Given the description of an element on the screen output the (x, y) to click on. 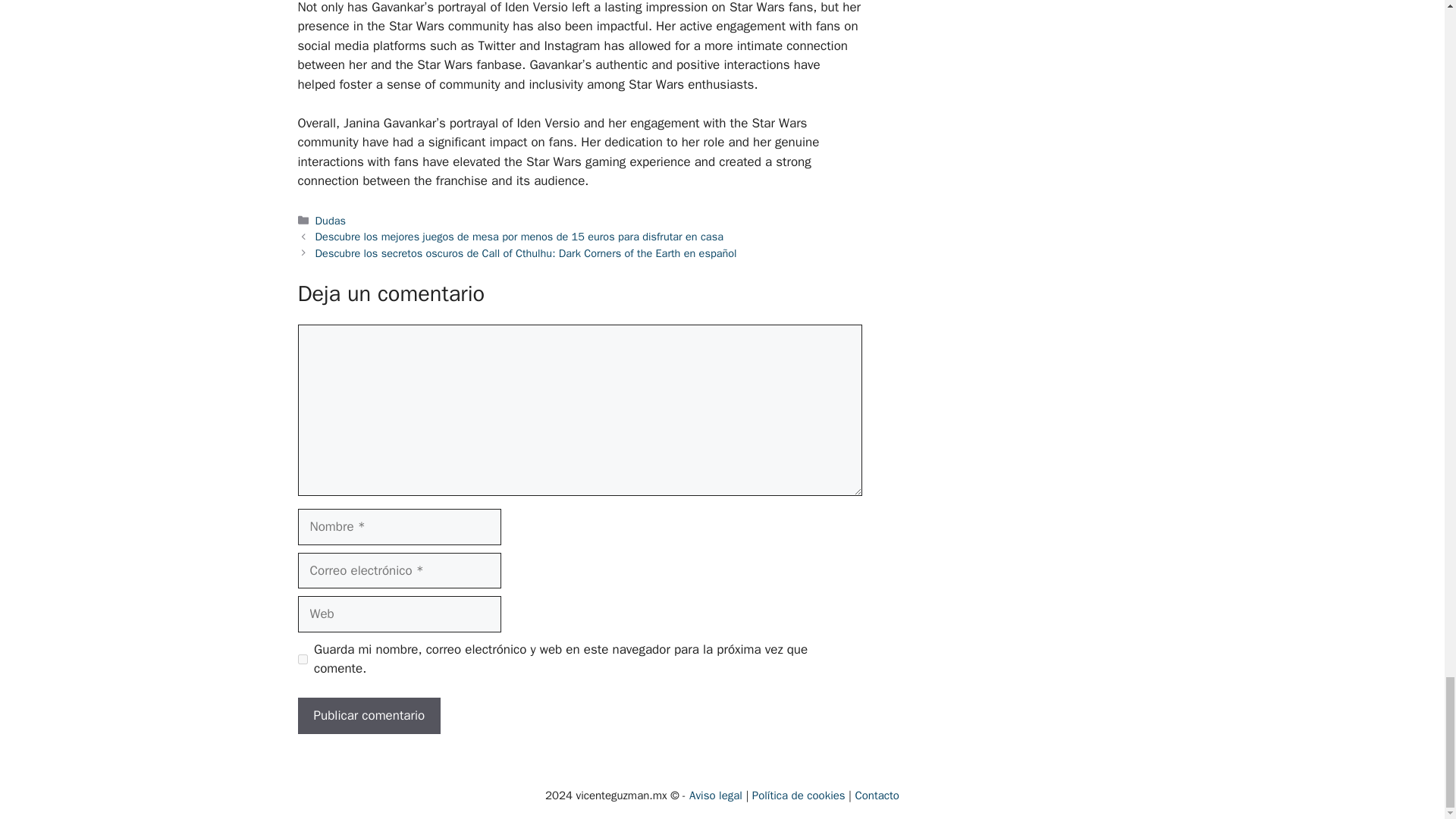
Publicar comentario (369, 715)
Publicar comentario (369, 715)
Contacto (877, 795)
Aviso legal (715, 795)
yes (302, 659)
Dudas (330, 220)
